Given the description of an element on the screen output the (x, y) to click on. 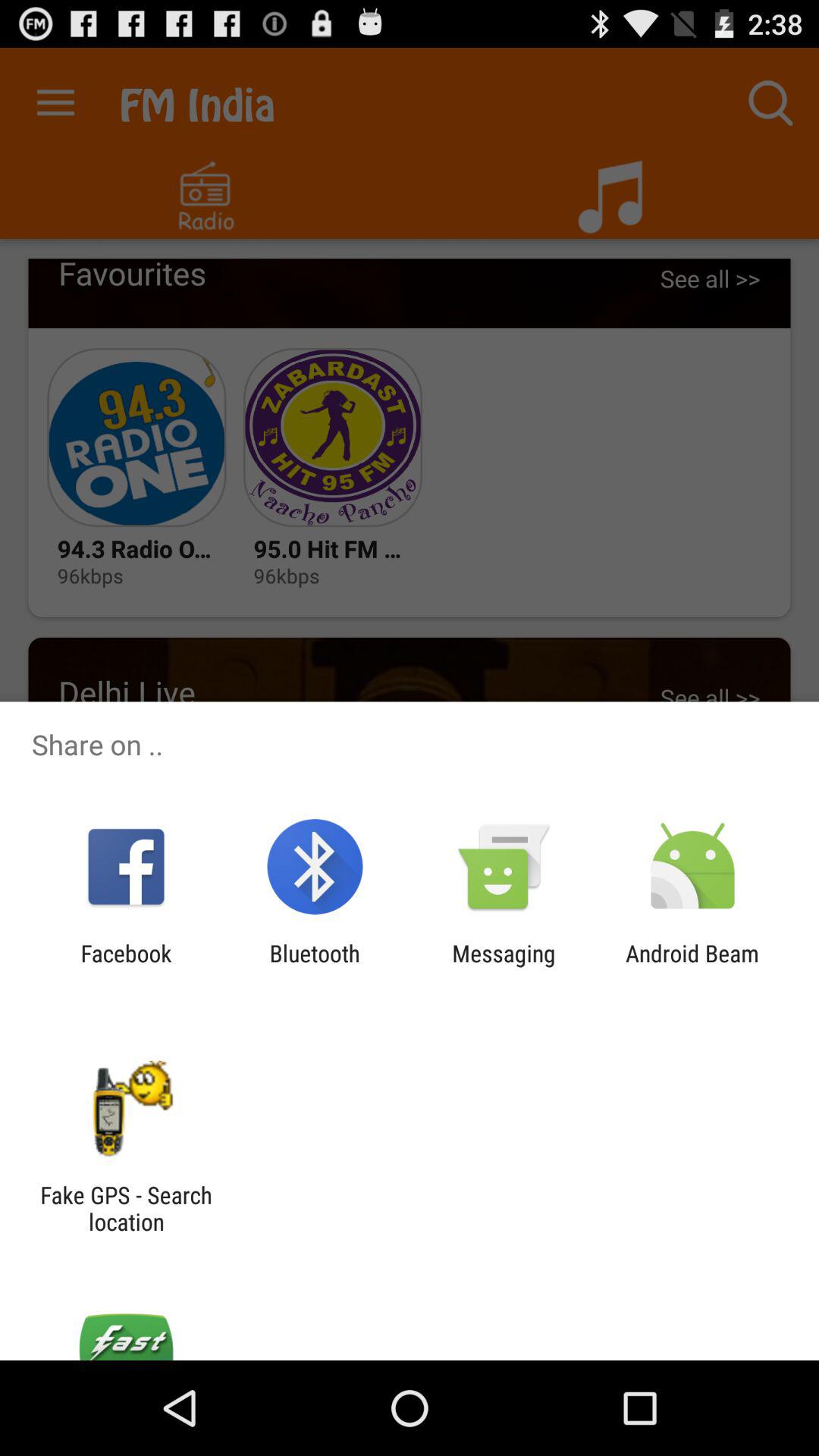
swipe until messaging app (503, 966)
